Given the description of an element on the screen output the (x, y) to click on. 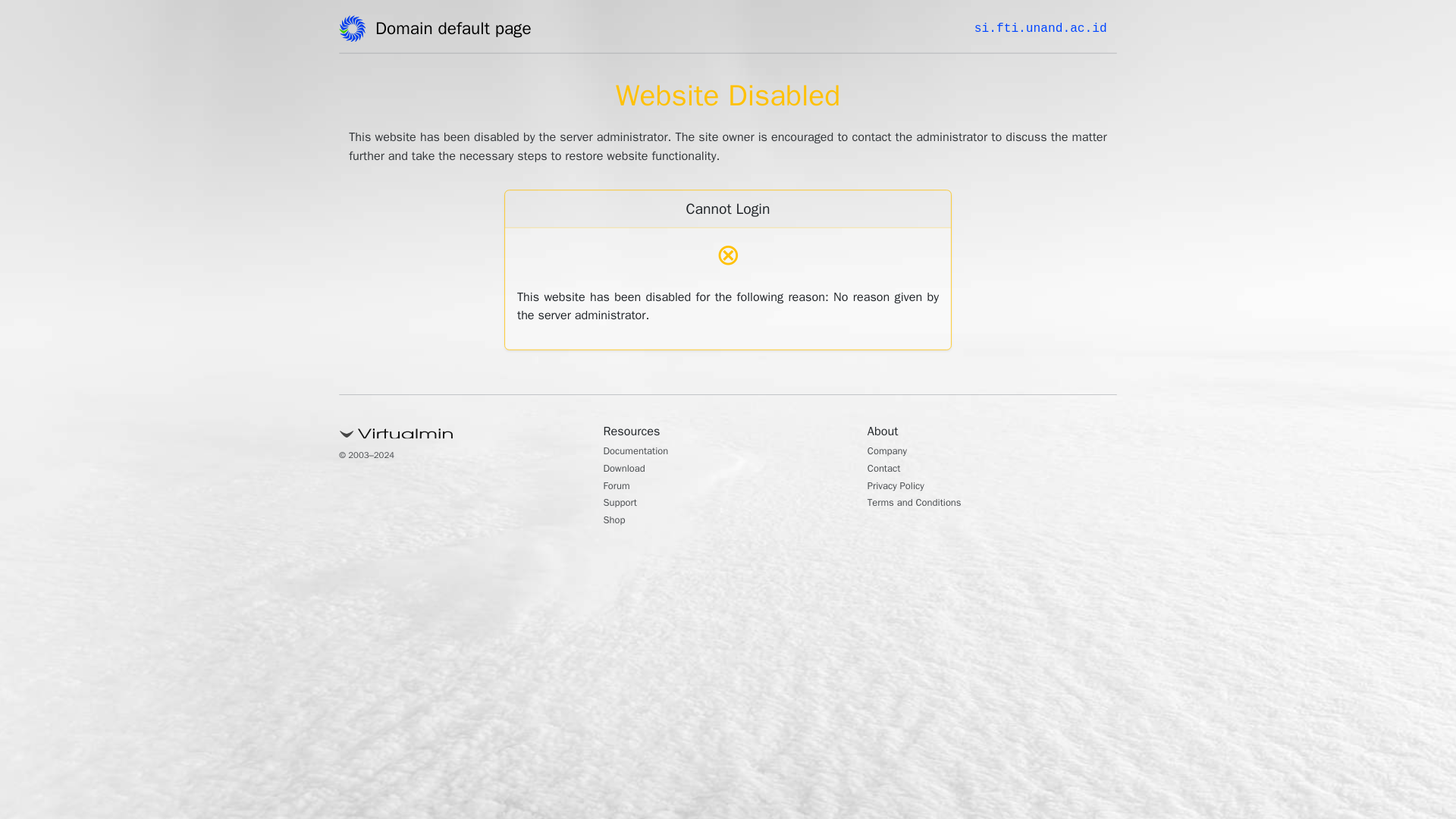
Documentation (644, 452)
Domain default page (457, 31)
Company (891, 452)
Forum (620, 487)
Contact (887, 469)
Terms and Conditions (925, 503)
Support (624, 503)
Privacy Policy (902, 487)
Download (629, 469)
Shop (617, 521)
